Given the description of an element on the screen output the (x, y) to click on. 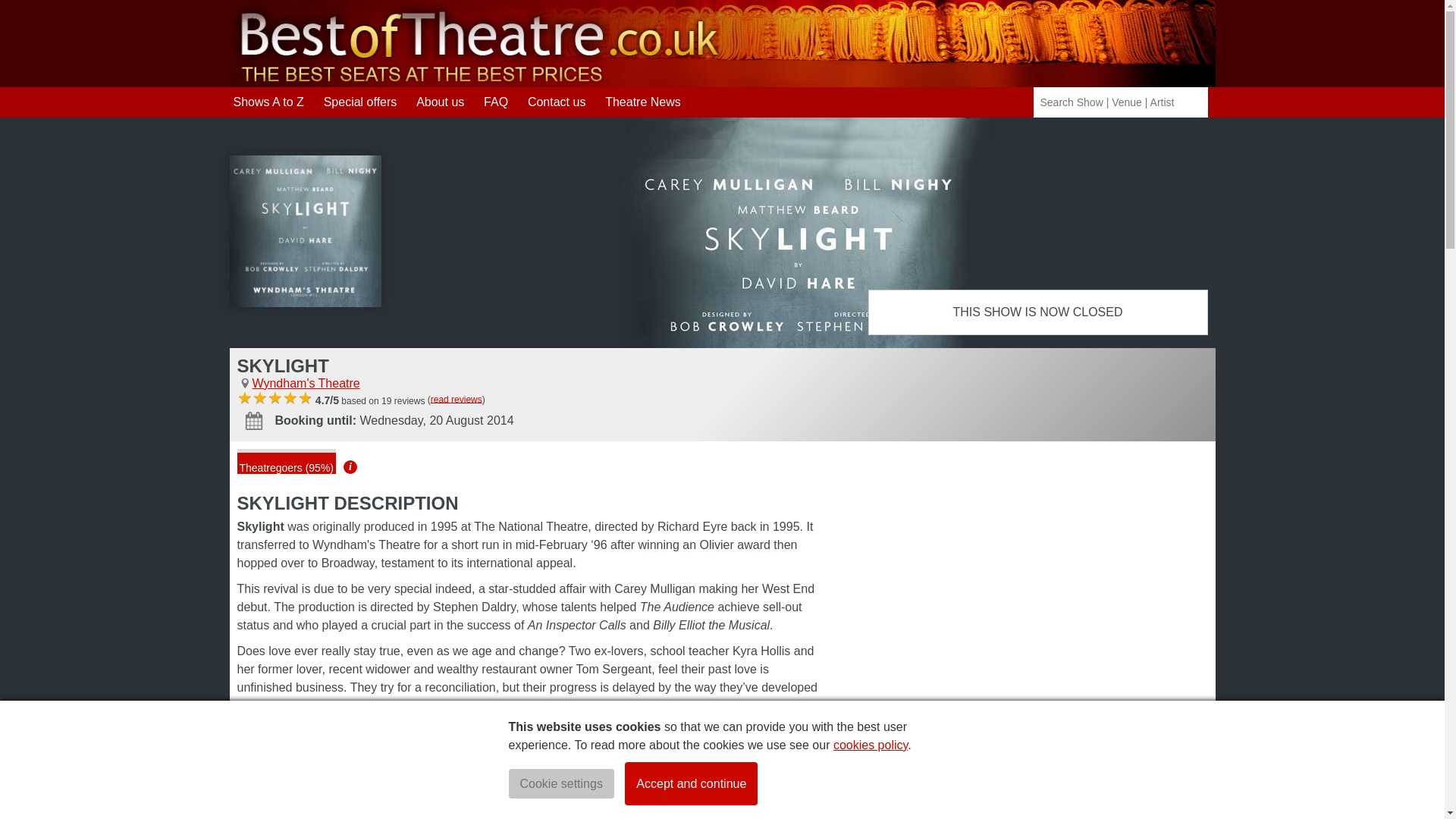
Accept and continue (690, 783)
Skylight (304, 231)
Contact us (556, 101)
About us (440, 101)
Best of Theatre (475, 42)
Cookie settings (560, 783)
cookies policy (869, 744)
Best of Theatre (475, 79)
Special offers (360, 101)
Shows A to Z (268, 101)
